Given the description of an element on the screen output the (x, y) to click on. 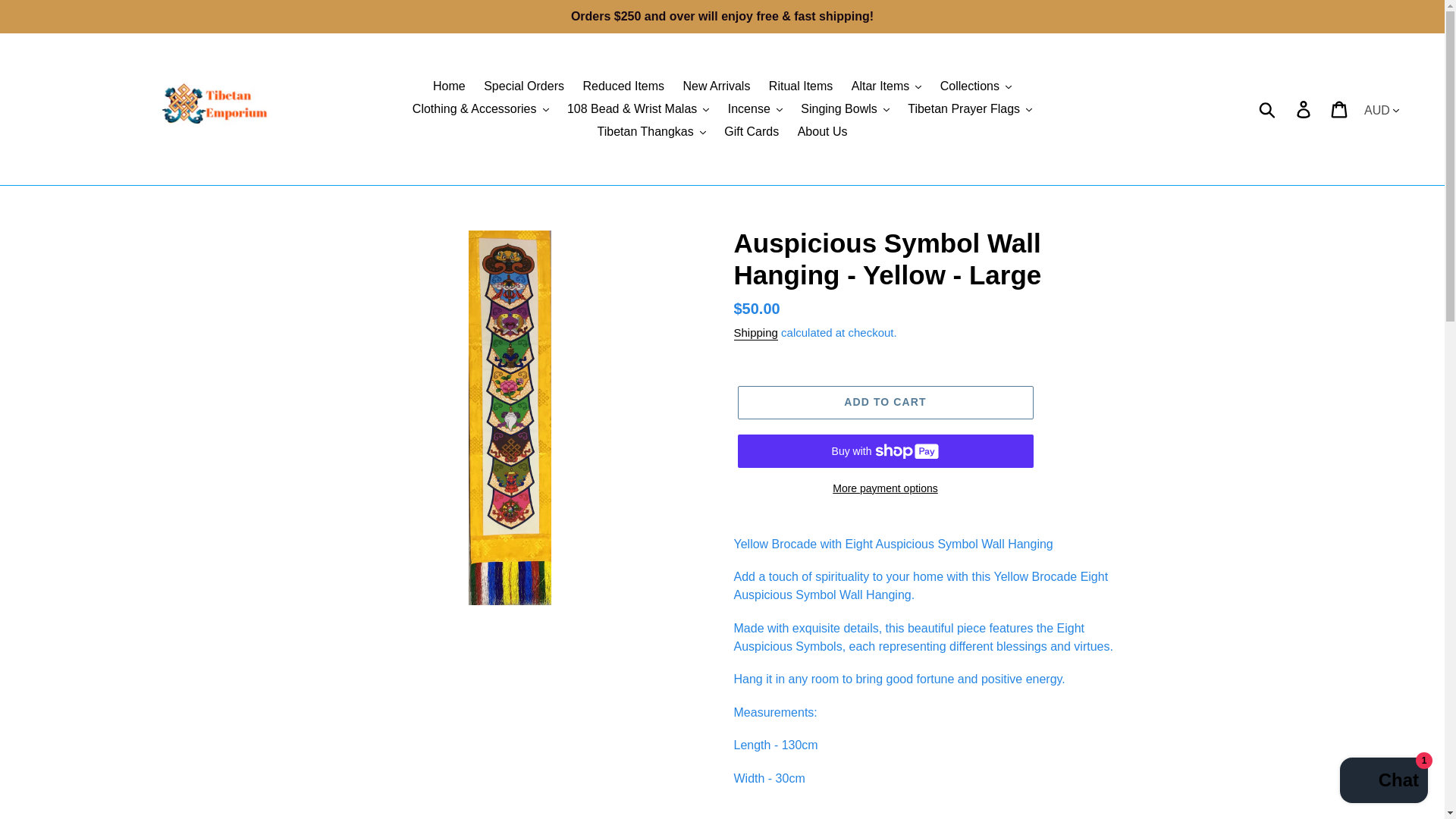
Home (449, 86)
New Arrivals (716, 86)
Special Orders (524, 86)
Reduced Items (623, 86)
Shopify online store chat (1383, 781)
Ritual Items (800, 86)
